Given the description of an element on the screen output the (x, y) to click on. 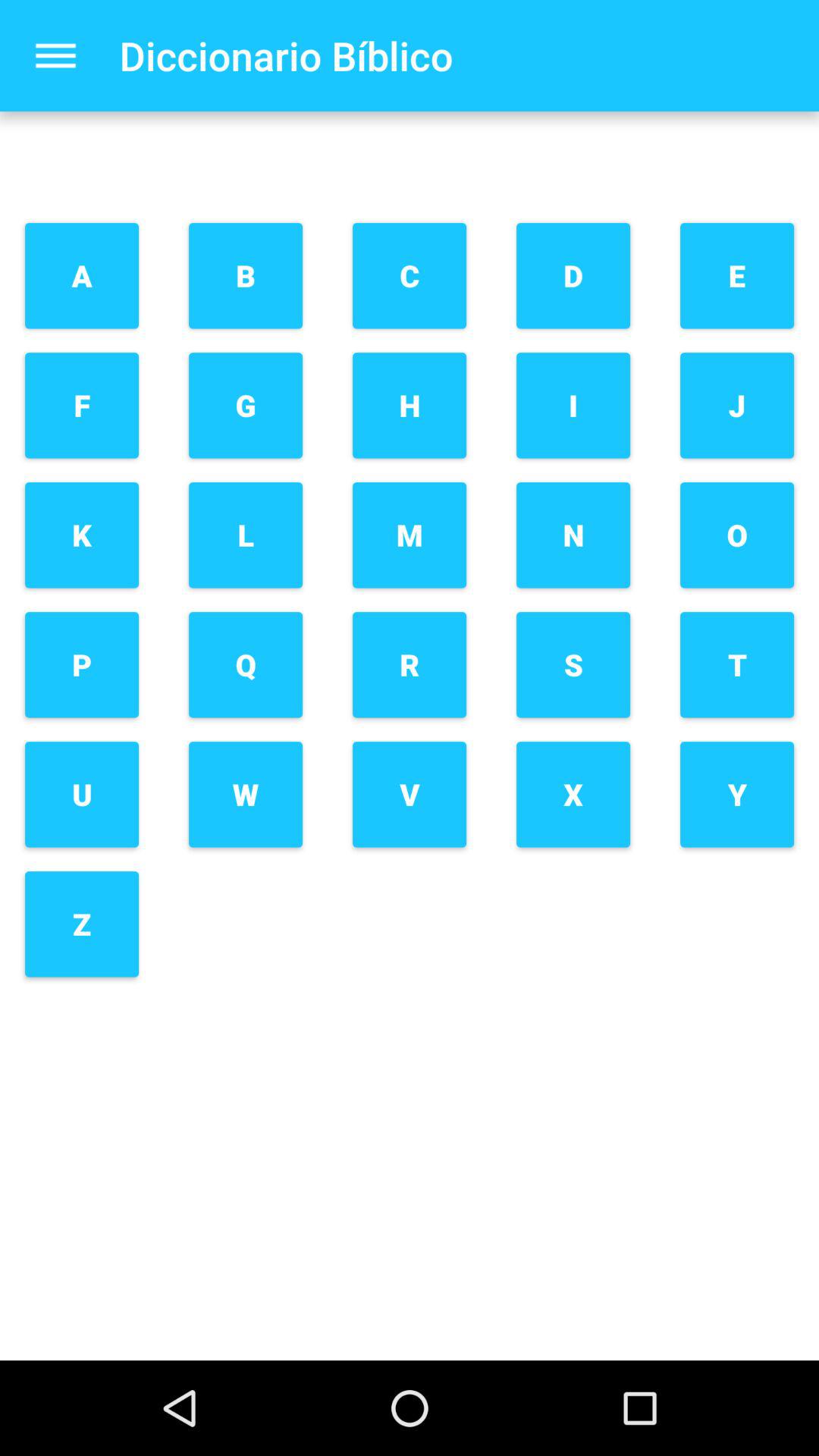
tap the x button (573, 794)
